Given the description of an element on the screen output the (x, y) to click on. 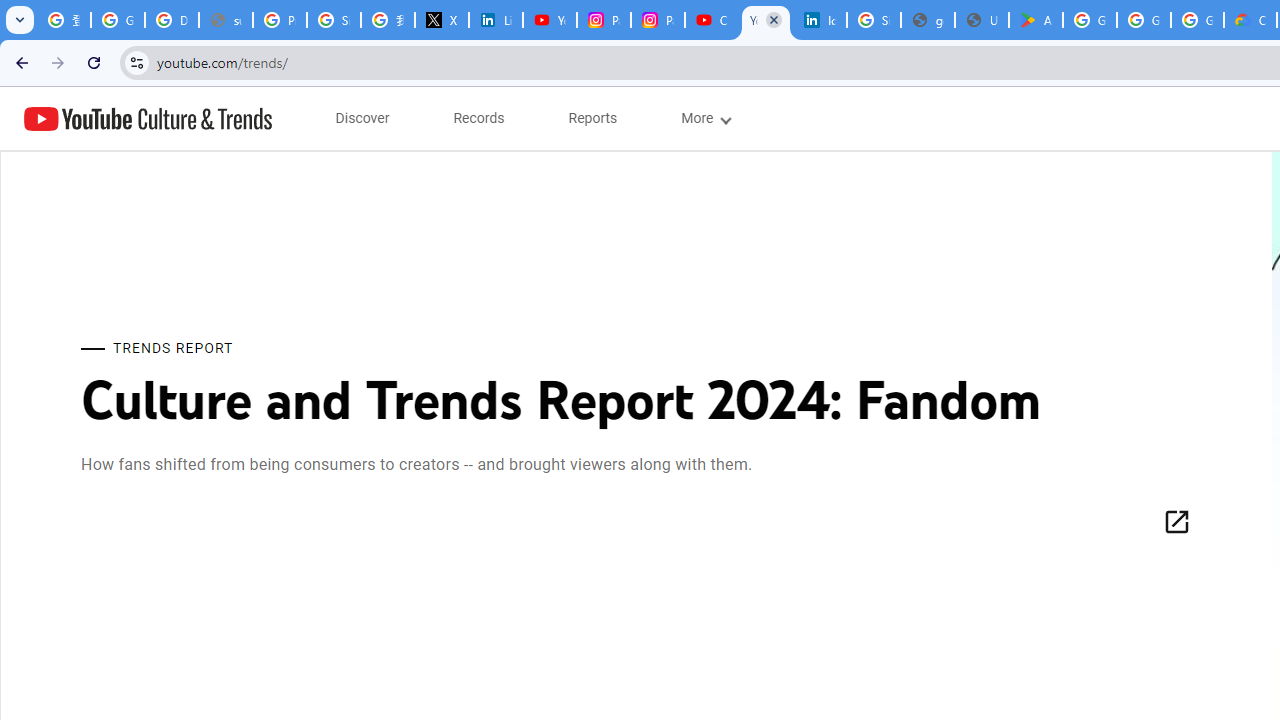
subnav-Reports menupopup (593, 118)
subnav-More menupopup (704, 118)
subnav-More menupopup (704, 118)
YouTube Content Monetization Policies - How YouTube Works (550, 20)
Privacy Help Center - Policies Help (280, 20)
Identity verification via Persona | LinkedIn Help (819, 20)
User Details (981, 20)
